Given the description of an element on the screen output the (x, y) to click on. 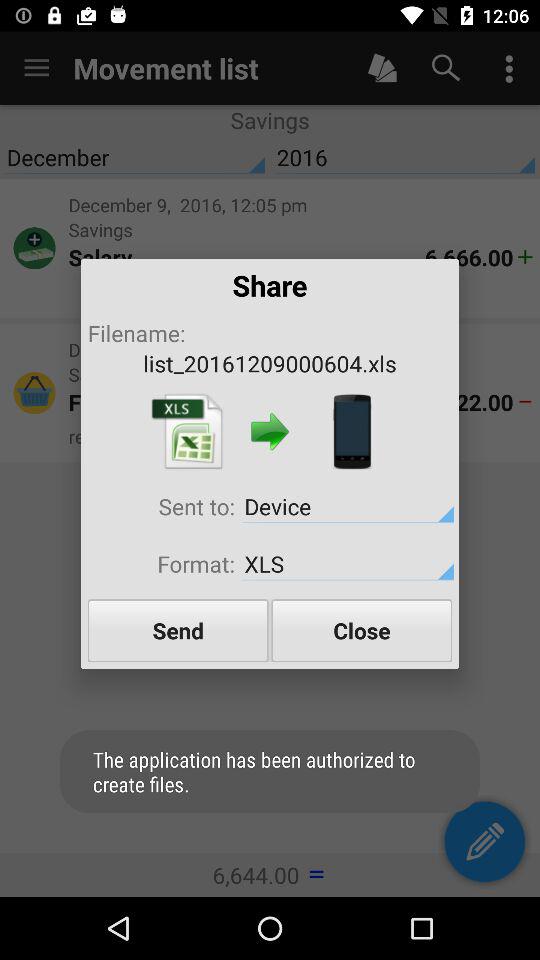
xls file (187, 431)
